Given the description of an element on the screen output the (x, y) to click on. 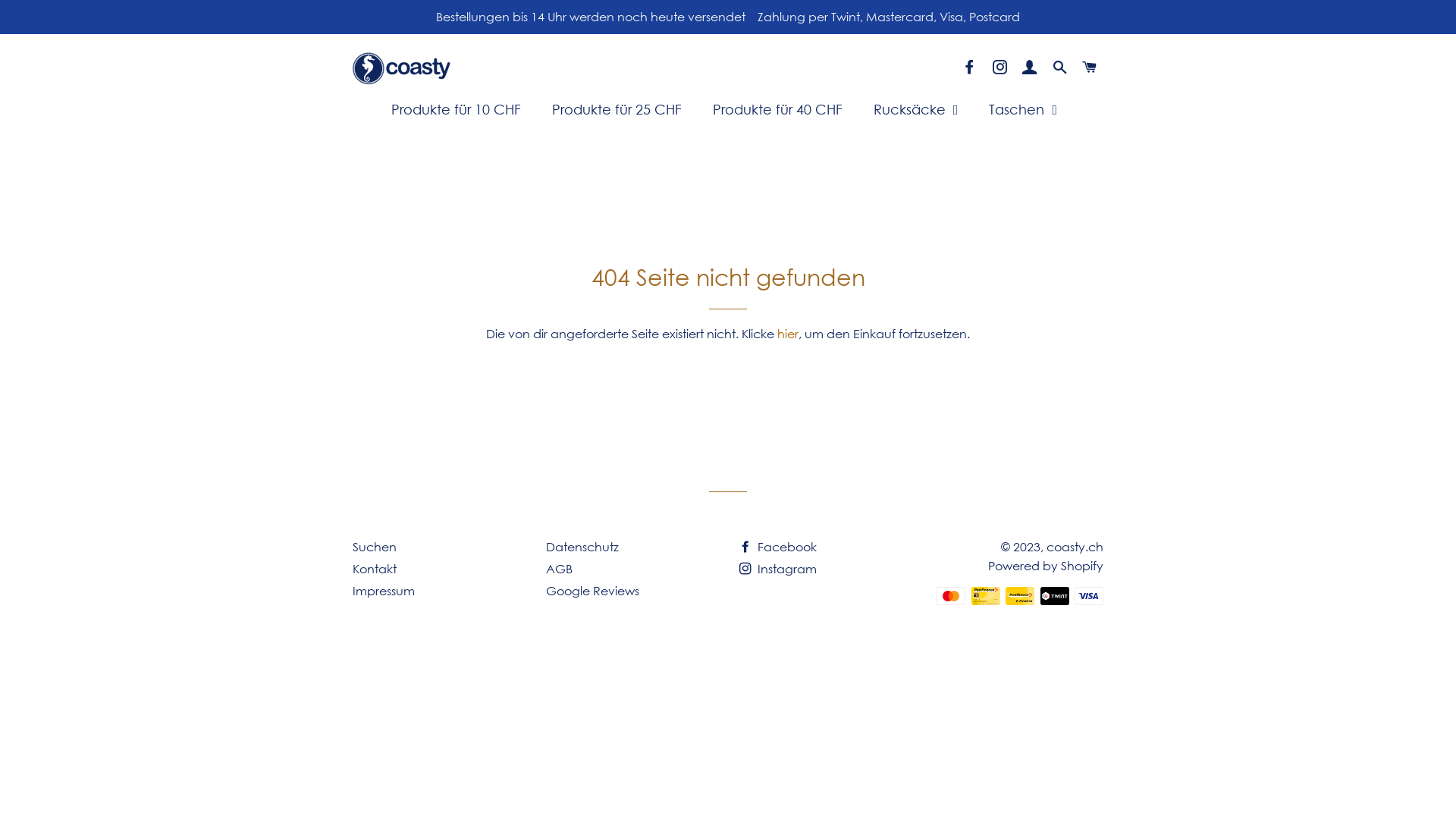
Impressum Element type: text (383, 590)
AGB Element type: text (559, 568)
Facebook Element type: text (777, 546)
Google Reviews Element type: text (592, 590)
coasty.ch auf Instagram Element type: hover (999, 68)
coasty.ch auf Facebook Element type: hover (970, 68)
WARENKORB Element type: text (1089, 68)
EINLOGGEN Element type: text (1029, 68)
SUCHE Element type: text (1059, 68)
Taschen Element type: text (1022, 109)
coasty.ch Element type: text (1074, 546)
Suchen Element type: text (374, 546)
View Cart Element type: text (1307, 69)
Kontakt Element type: text (374, 568)
Instagram Element type: text (777, 568)
Datenschutz Element type: text (582, 546)
hier Element type: text (787, 333)
